Given the description of an element on the screen output the (x, y) to click on. 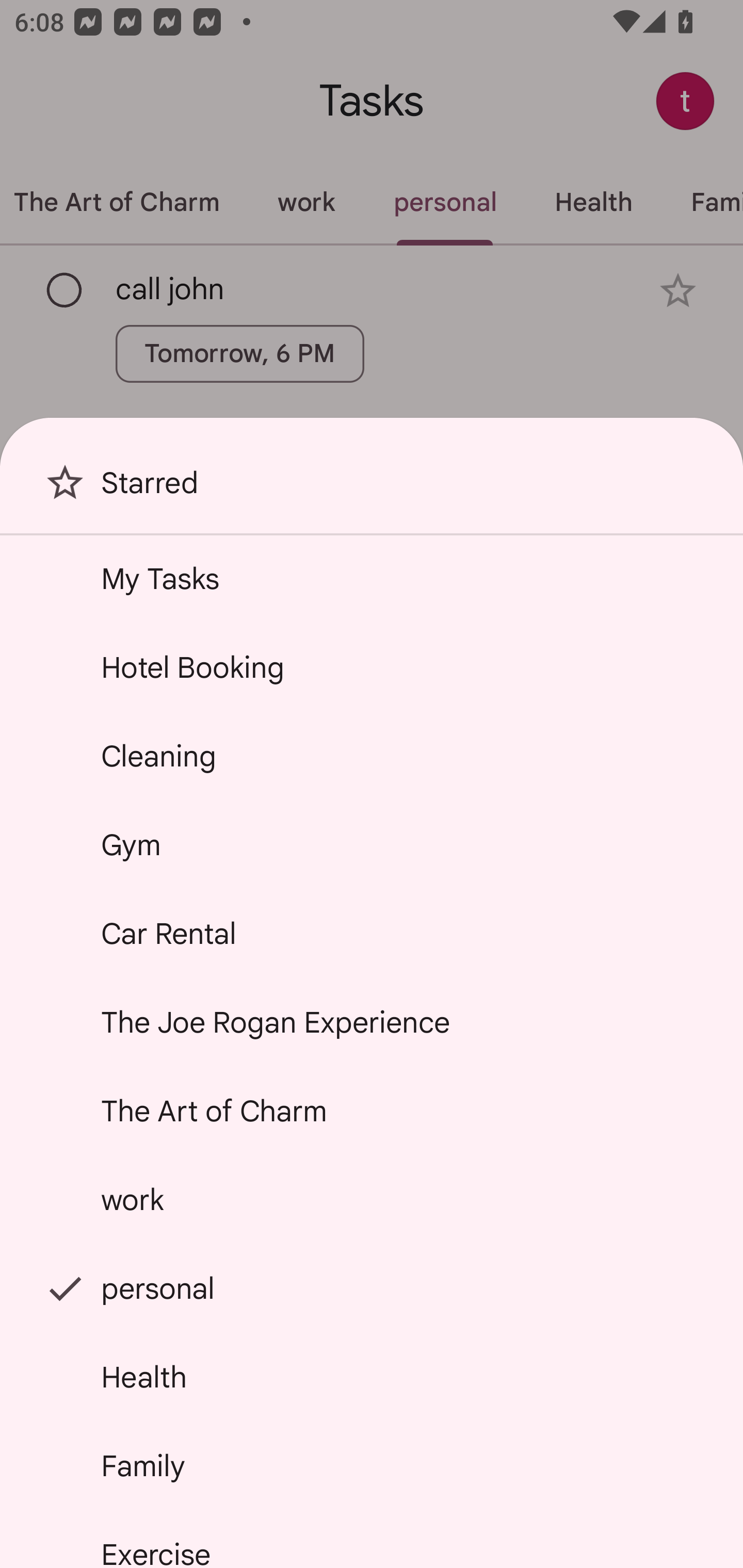
Starred (371, 489)
My Tasks (371, 578)
Hotel Booking (371, 667)
Cleaning (371, 756)
Gym (371, 844)
Car Rental (371, 933)
The Joe Rogan Experience (371, 1022)
The Art of Charm (371, 1110)
work (371, 1200)
personal (371, 1287)
Health (371, 1377)
Family (371, 1465)
Exercise (371, 1539)
